Given the description of an element on the screen output the (x, y) to click on. 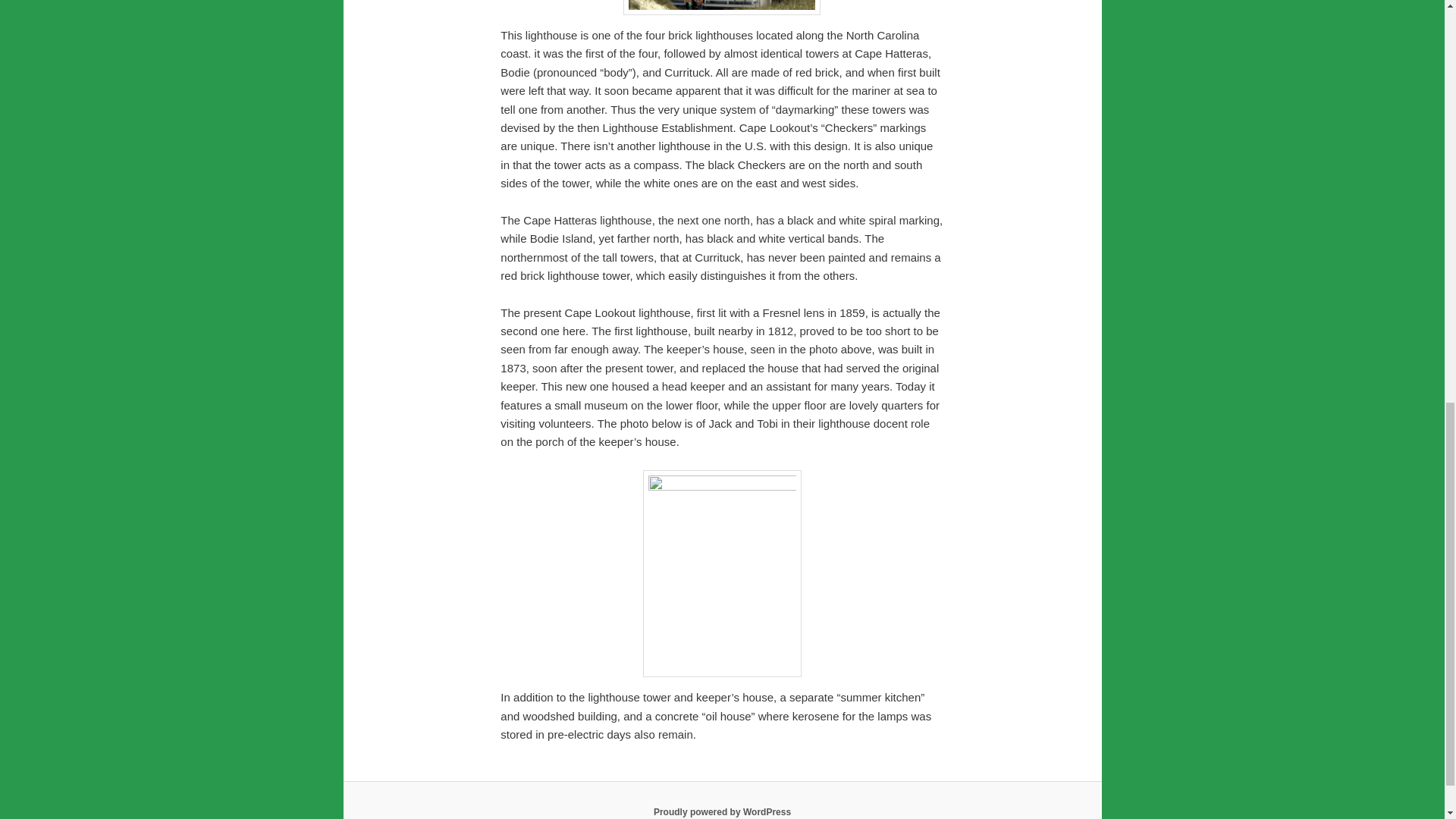
Semantic Personal Publishing Platform (721, 811)
